Given the description of an element on the screen output the (x, y) to click on. 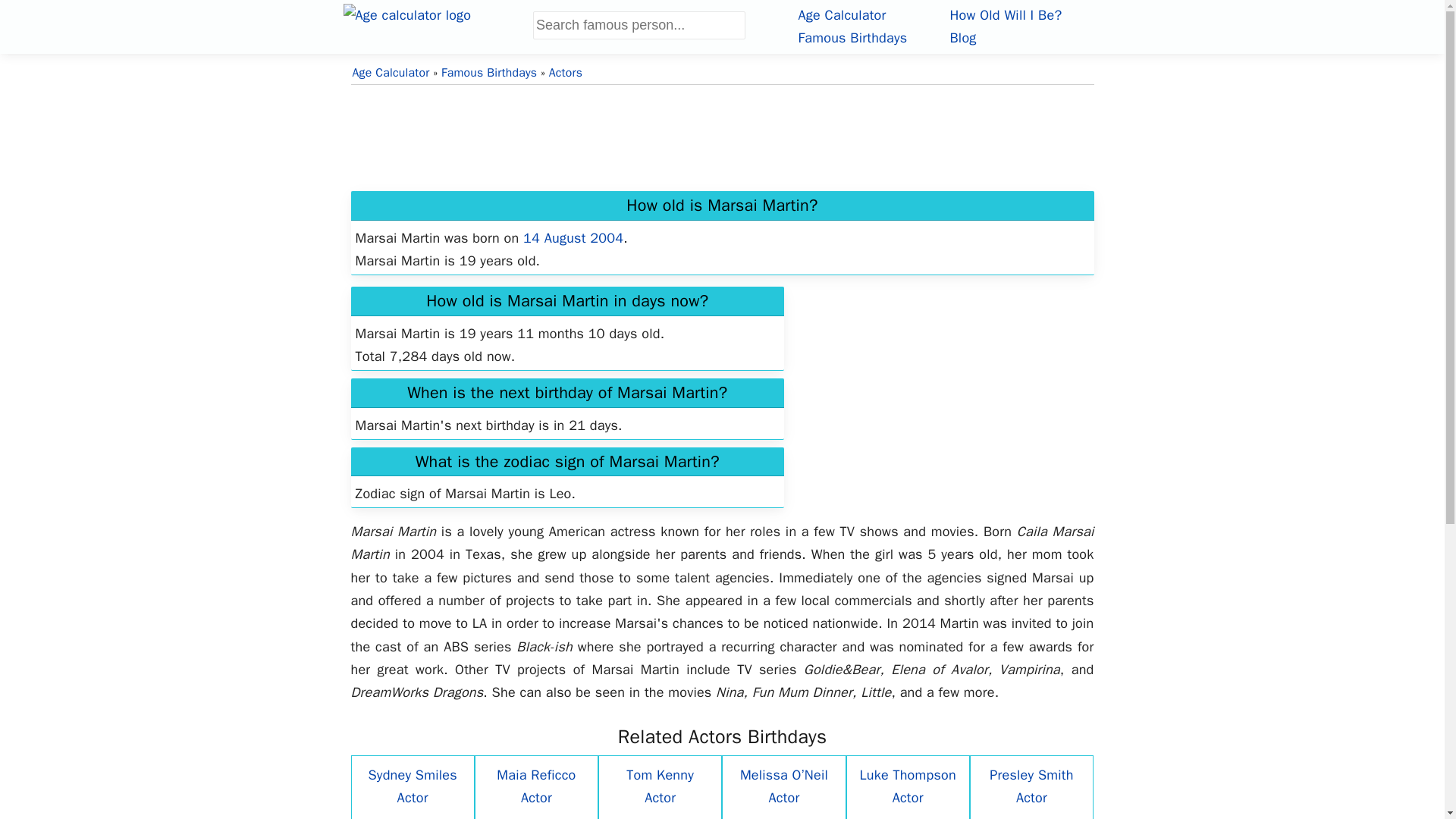
Age Calculator (437, 24)
August 14 Famous Birthdays (572, 238)
How Old Will I Be In The Future? (1005, 14)
Famous Birthdays (852, 37)
Blog (962, 37)
14 August 2004 (572, 238)
Famous Birthdays (852, 37)
Famous Birthdays (489, 72)
Age Calculator (841, 14)
Age Calculator (841, 14)
How Old Will I Be? (1005, 14)
Age Calculator (390, 72)
Actors (565, 72)
Age Calculator Blog (962, 37)
